Given the description of an element on the screen output the (x, y) to click on. 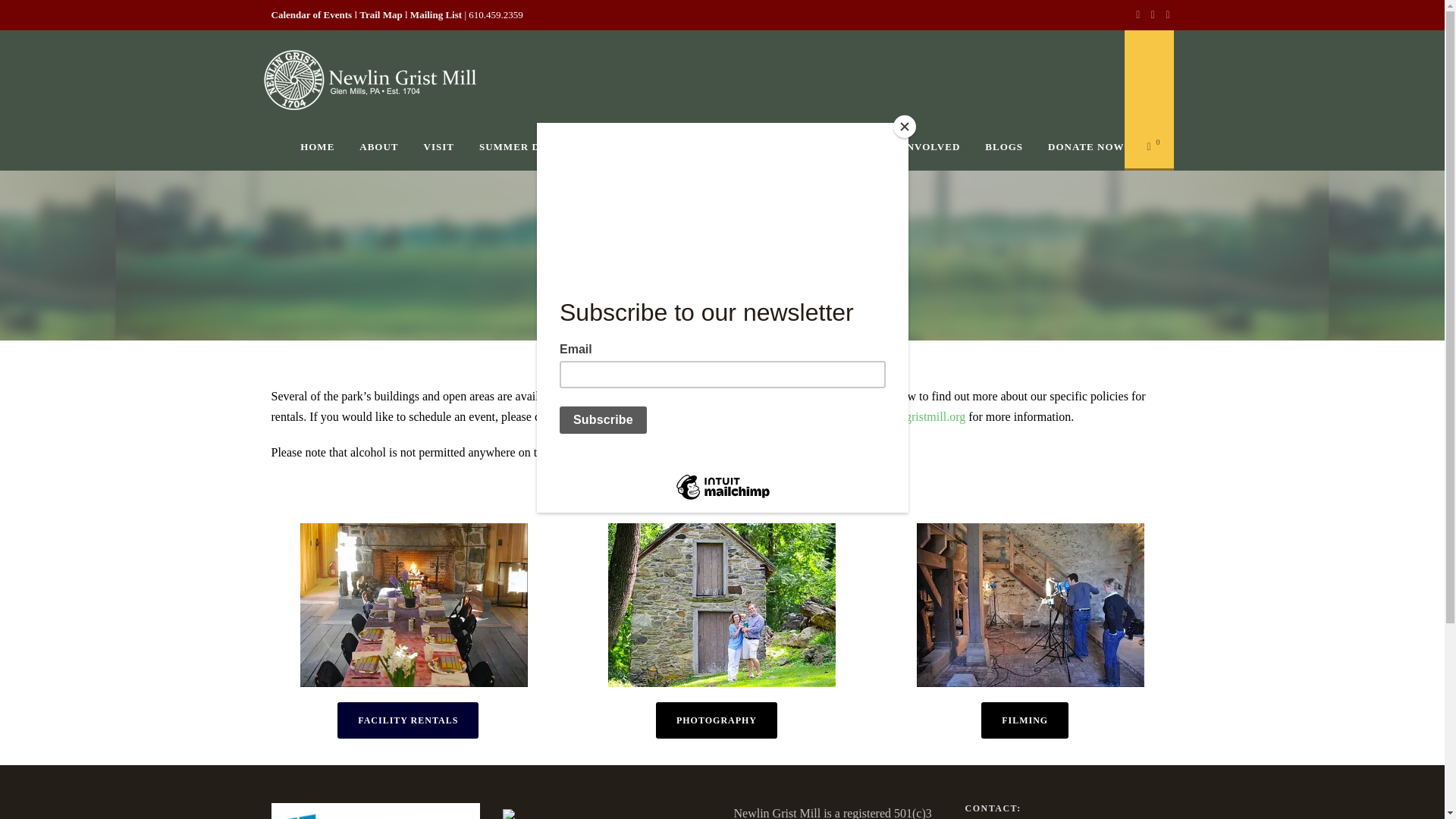
Calendar of Events (311, 14)
Mailing List (435, 14)
Trail Map (380, 14)
